Given the description of an element on the screen output the (x, y) to click on. 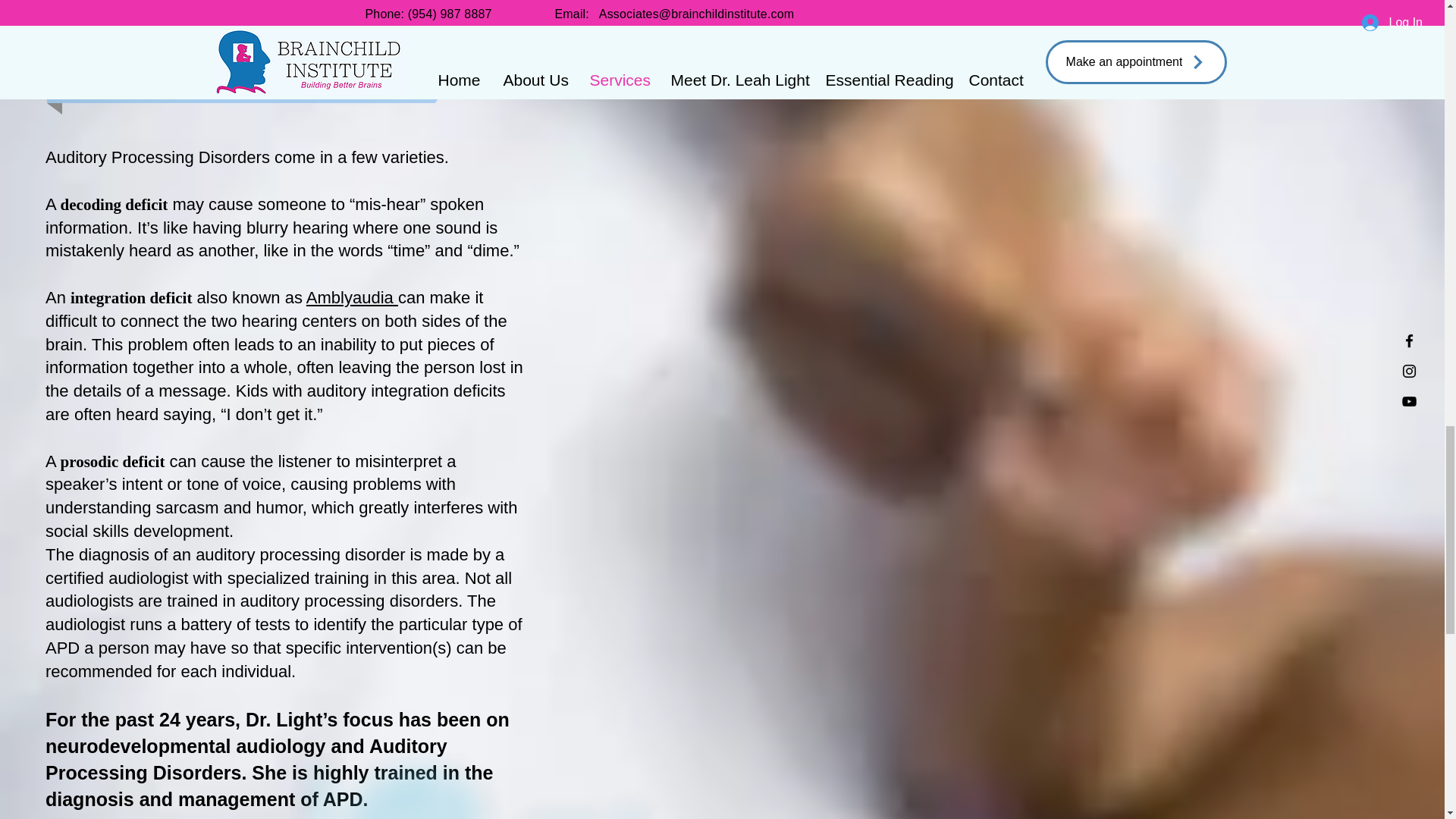
Amblyaudia  (351, 297)
